Given the description of an element on the screen output the (x, y) to click on. 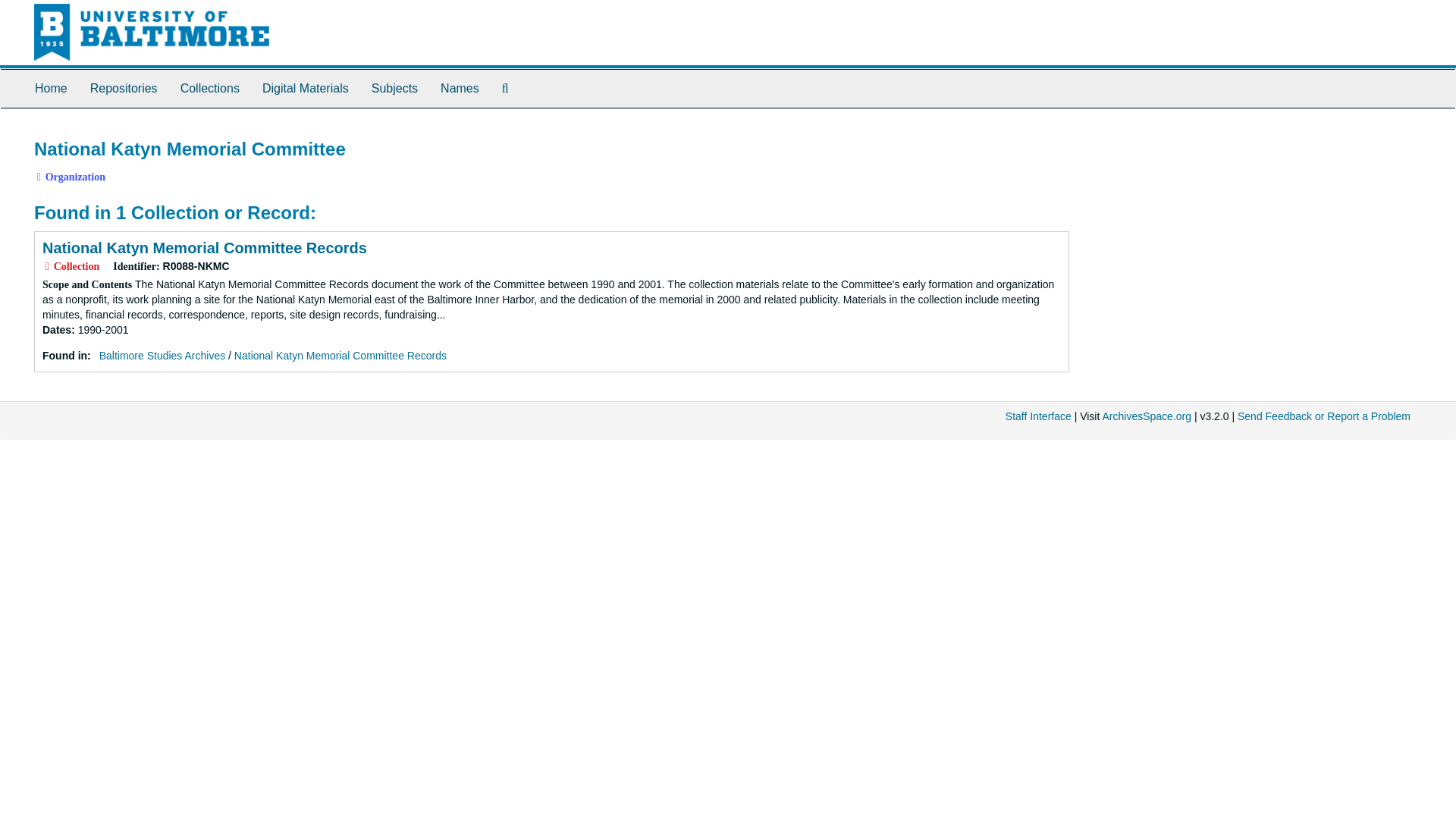
Subjects (394, 88)
Home (50, 88)
Digital Materials (304, 88)
National Katyn Memorial Committee Records (204, 247)
Collections (209, 88)
Baltimore Studies Archives (162, 355)
Send Feedback or Report a Problem (1323, 416)
National Katyn Memorial Committee Records (340, 355)
Page Actions (1139, 131)
translation missing: en.dates (56, 329)
Staff Interface (1038, 416)
Repositories (123, 88)
ArchivesSpace.org (1146, 416)
Names (459, 88)
